Given the description of an element on the screen output the (x, y) to click on. 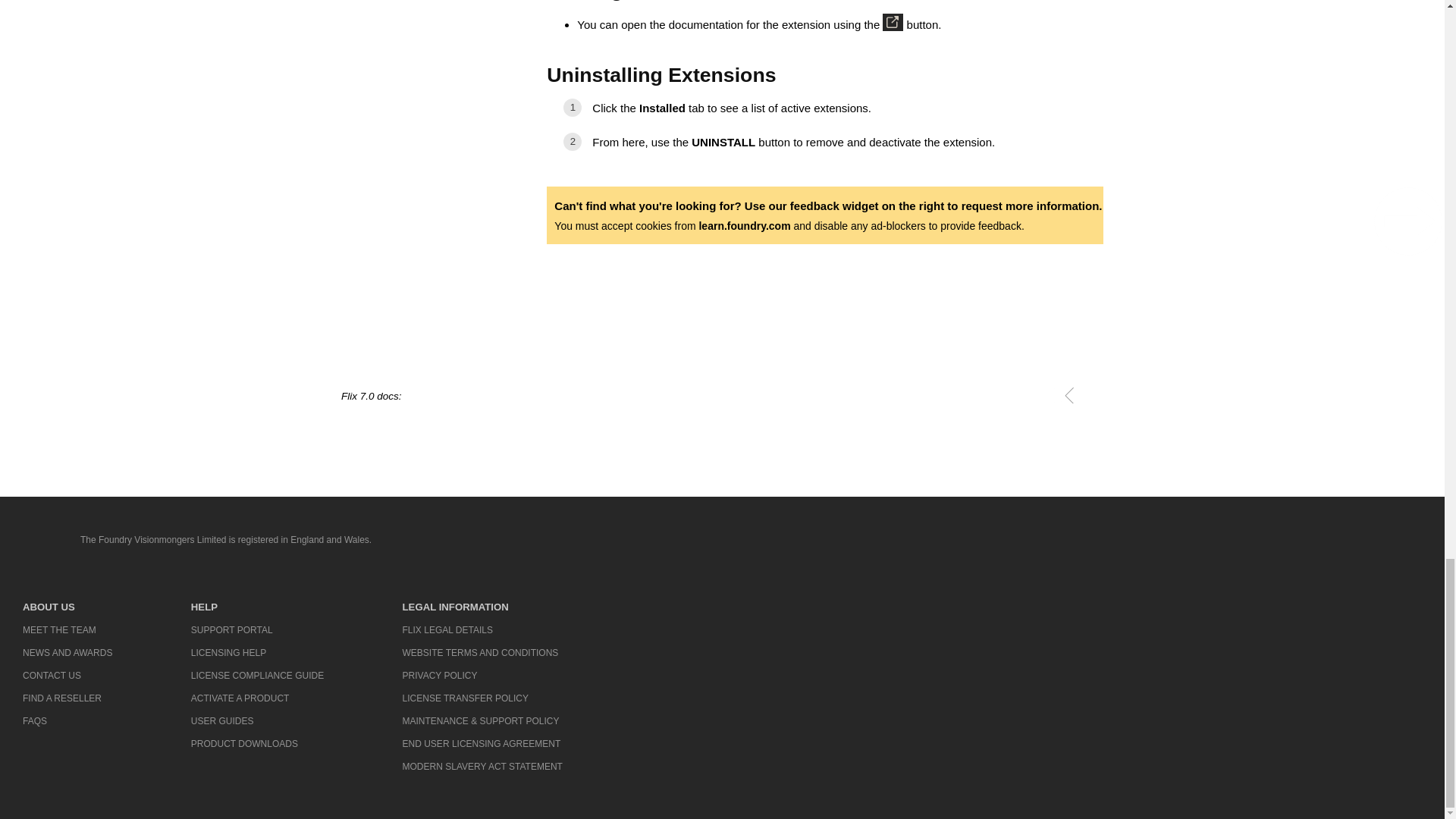
USER GUIDES (256, 721)
Twitter (1243, 542)
Navigate next (1091, 394)
Home (36, 540)
CONTACT US (67, 675)
NEWS AND AWARDS (67, 652)
FIND A RESELLER (67, 698)
Vimeo (1343, 542)
Navigate previous (1069, 394)
LICENSING HELP (256, 652)
LICENSE COMPLIANCE GUIDE (256, 675)
Print (1046, 394)
SUPPORT PORTAL (256, 630)
MEET THE TEAM (67, 630)
